Given the description of an element on the screen output the (x, y) to click on. 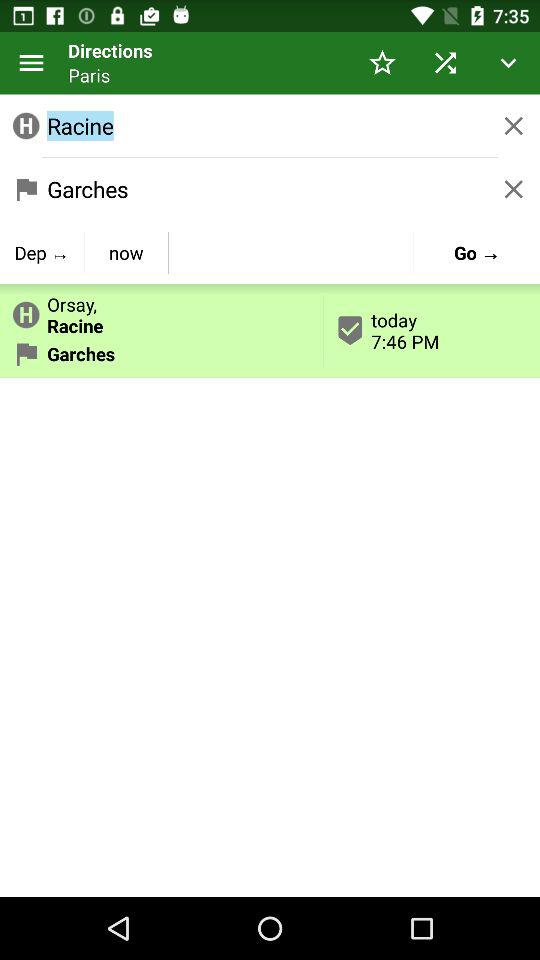
press the item below garches item (126, 252)
